Given the description of an element on the screen output the (x, y) to click on. 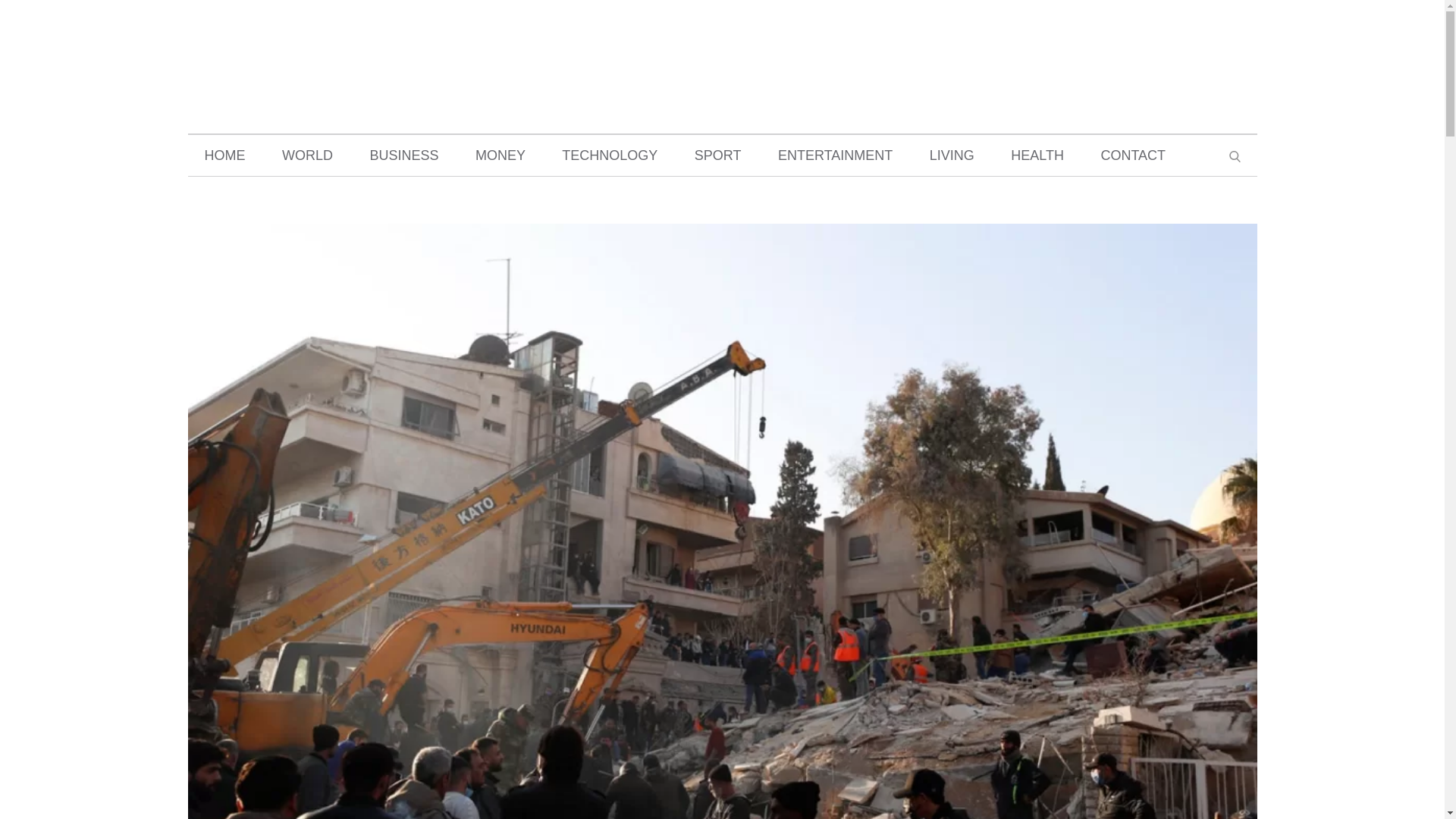
ENTERTAINMENT (834, 155)
CONTACT (1132, 155)
WORLD (306, 155)
MONEY (499, 155)
HOME (224, 155)
NEW YORK INSIDER (722, 49)
TECHNOLOGY (609, 155)
SPORT (718, 155)
BUSINESS (403, 155)
SEARCH (1233, 155)
HEALTH (1037, 155)
LIVING (951, 155)
